Given the description of an element on the screen output the (x, y) to click on. 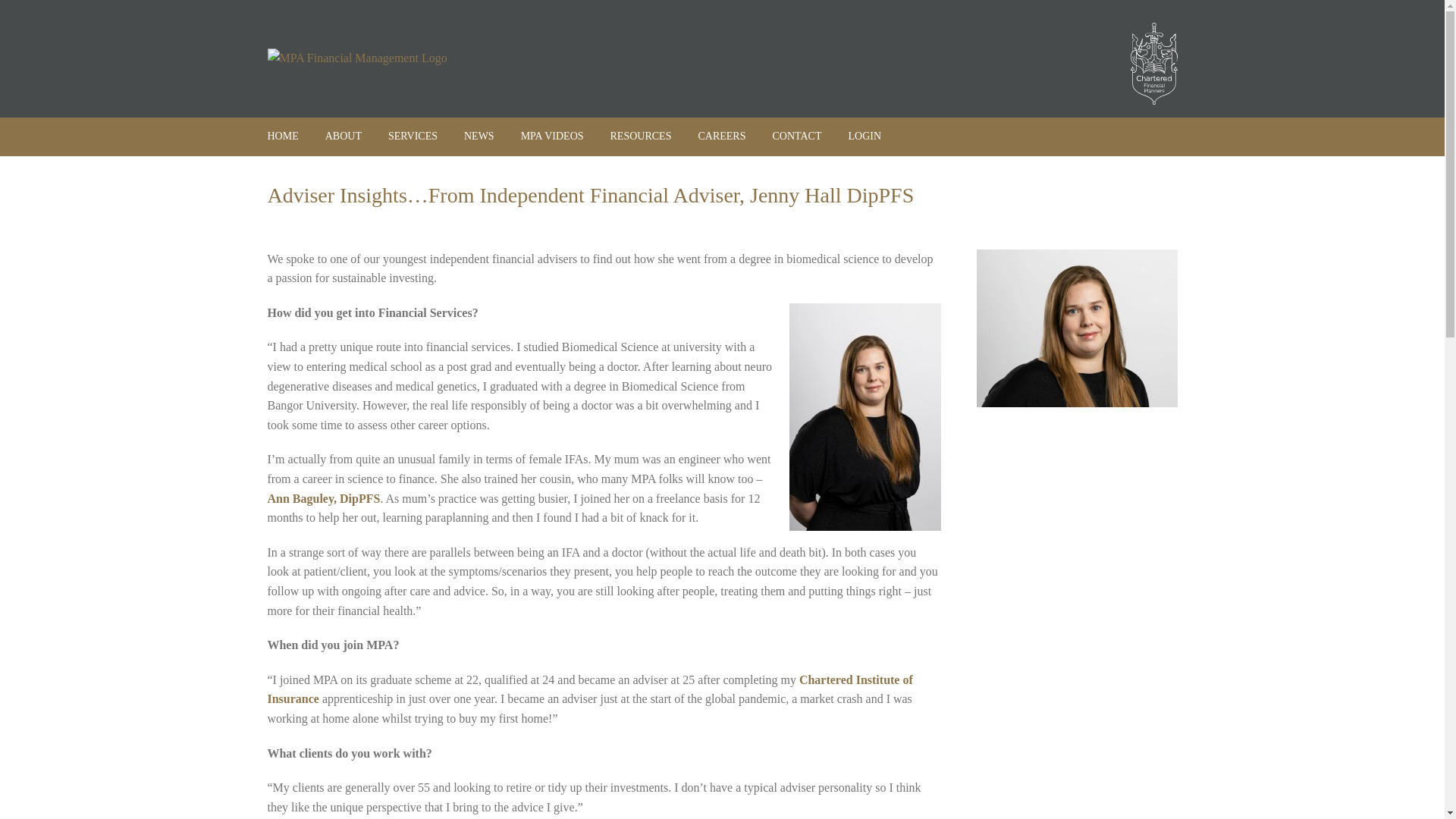
CONTACT (796, 136)
SERVICES (413, 136)
CAREERS (721, 136)
MPA VIDEOS (552, 136)
Jenny Hall (1076, 328)
Chartered Institute of Insurance (589, 689)
Ann Baguley, DipPFS (323, 498)
RESOURCES (640, 136)
ABOUT (342, 136)
